Given the description of an element on the screen output the (x, y) to click on. 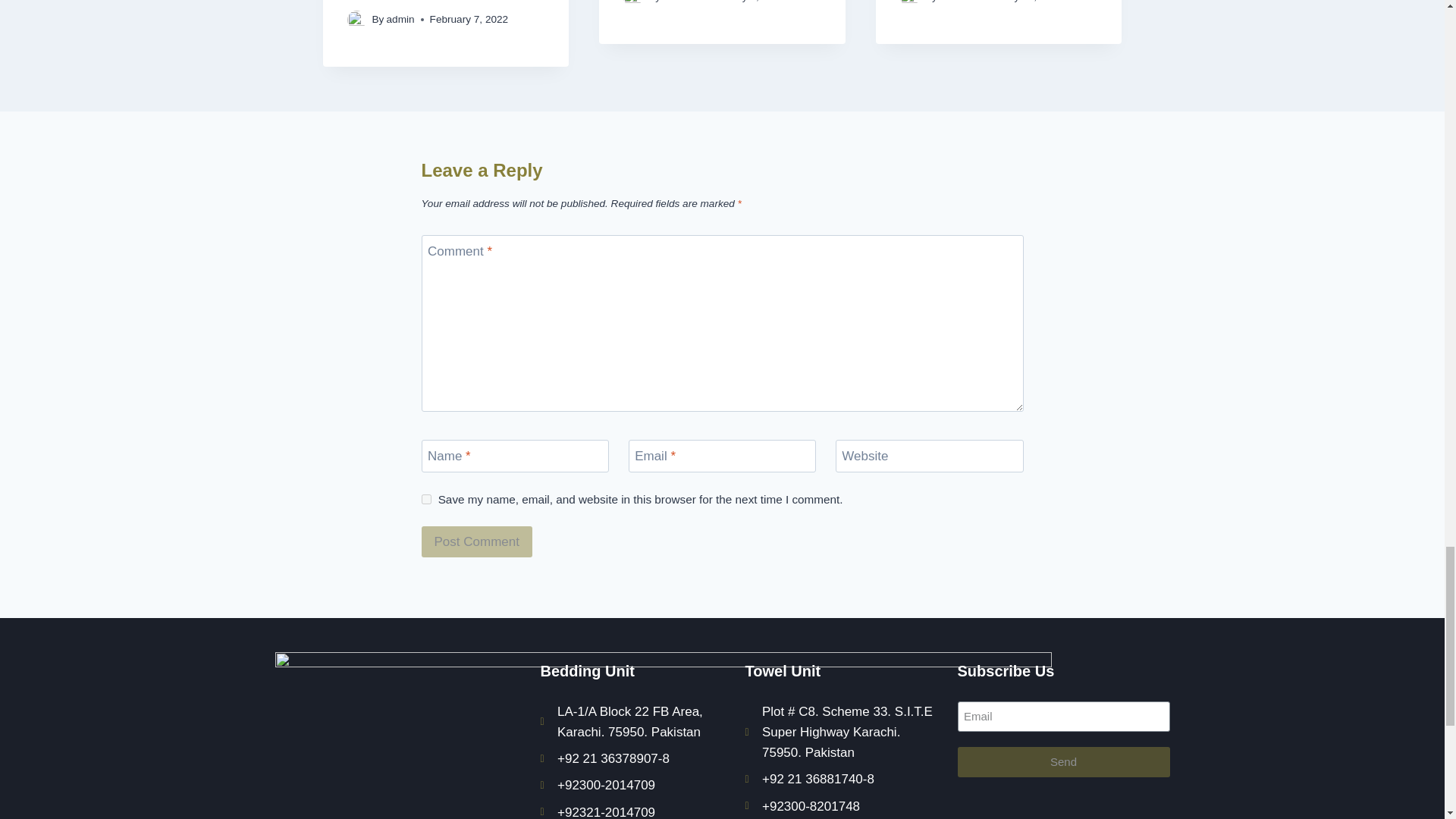
yes (426, 499)
admin (400, 19)
Post Comment (477, 541)
